Given the description of an element on the screen output the (x, y) to click on. 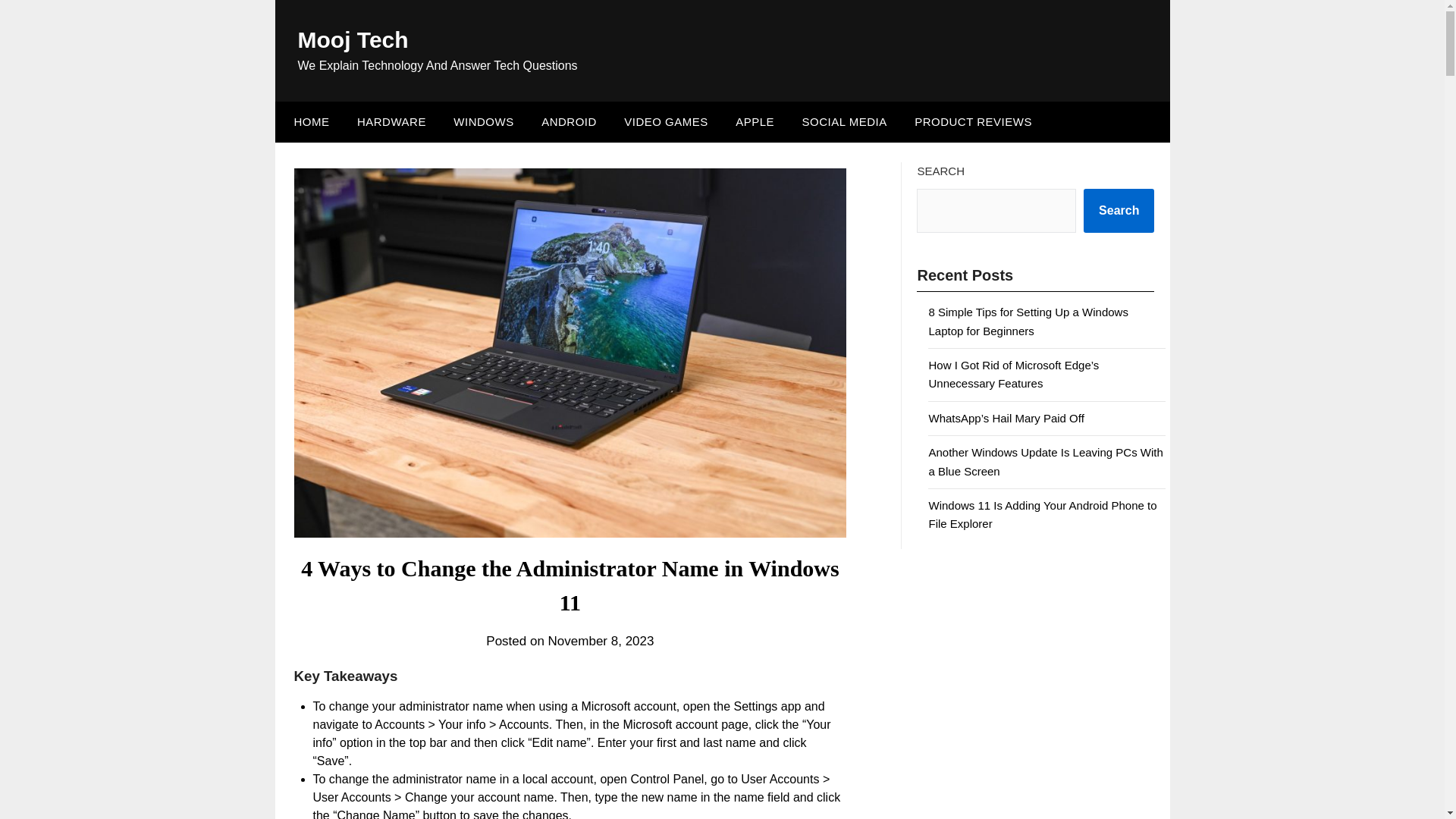
Windows 11 Is Adding Your Android Phone to File Explorer (1042, 513)
SOCIAL MEDIA (844, 121)
APPLE (754, 121)
WINDOWS (483, 121)
Mooj Tech (352, 39)
PRODUCT REVIEWS (972, 121)
HOME (307, 121)
Another Windows Update Is Leaving PCs With a Blue Screen (1044, 460)
ANDROID (568, 121)
HARDWARE (391, 121)
Search (1118, 210)
VIDEO GAMES (665, 121)
8 Simple Tips for Setting Up a Windows Laptop for Beginners (1027, 320)
